Given the description of an element on the screen output the (x, y) to click on. 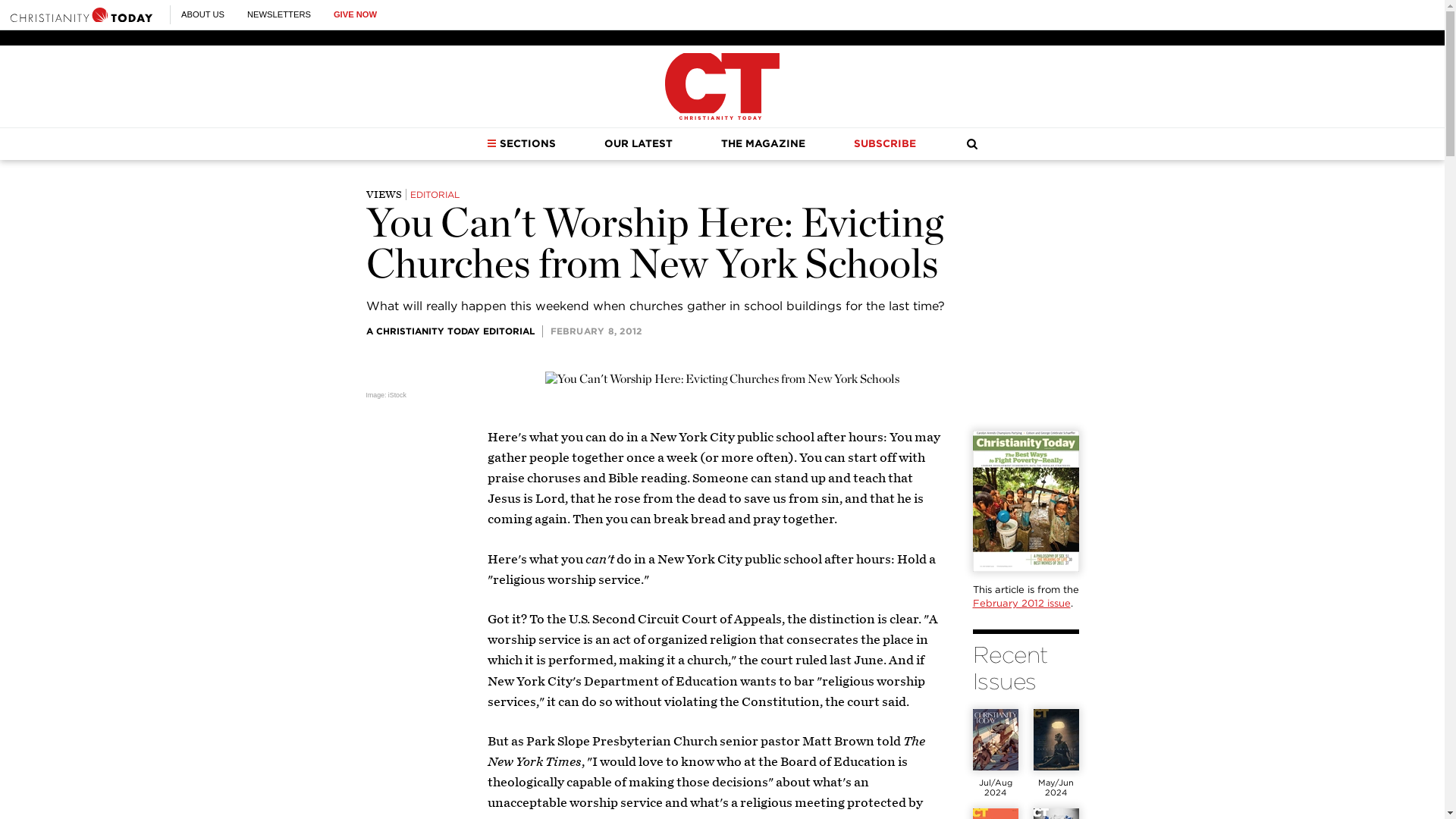
Christianity Today (81, 14)
SECTIONS (521, 143)
Sections Dropdown (491, 143)
Christianity Today (721, 86)
ABOUT US (202, 14)
GIVE NOW (355, 14)
NEWSLETTERS (278, 14)
